Given the description of an element on the screen output the (x, y) to click on. 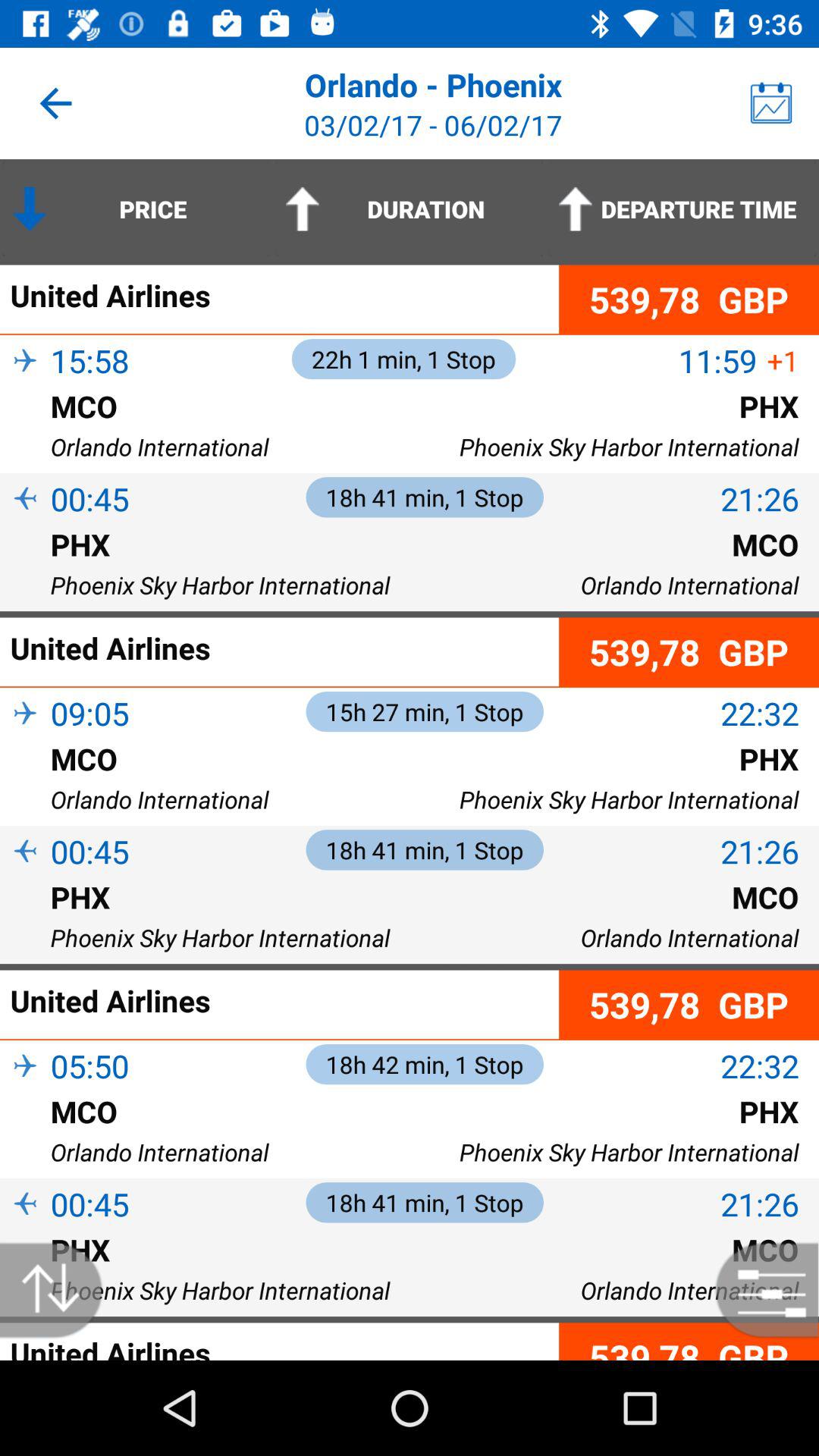
press the item next to the orlando - phoenix item (771, 103)
